Given the description of an element on the screen output the (x, y) to click on. 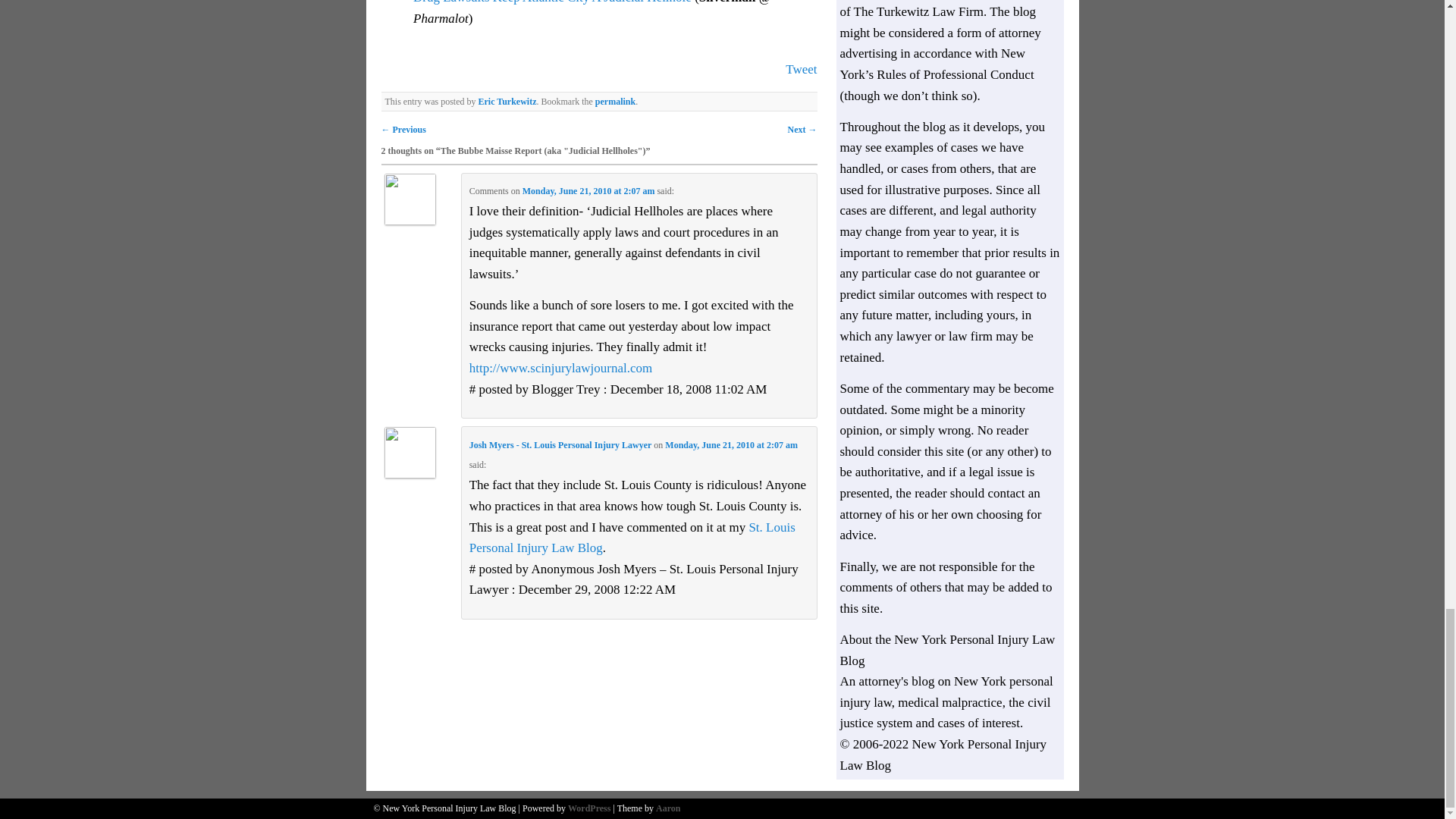
St. Louis Personal Injury Law Blog (631, 538)
Freelance Theme Developer (667, 808)
Monday, June 21, 2010 at 2:07 am (588, 190)
Eric Turkewitz (506, 101)
Josh Myers - St. Louis Personal Injury Lawyer (560, 444)
Tweet (801, 69)
Drug Lawsuits Keep Atlantic City A Judicial Hellhole (553, 2)
Monday, June 21, 2010 at 2:07 am (731, 444)
permalink (614, 101)
Semantic Personal Publishing Platform (588, 808)
